Given the description of an element on the screen output the (x, y) to click on. 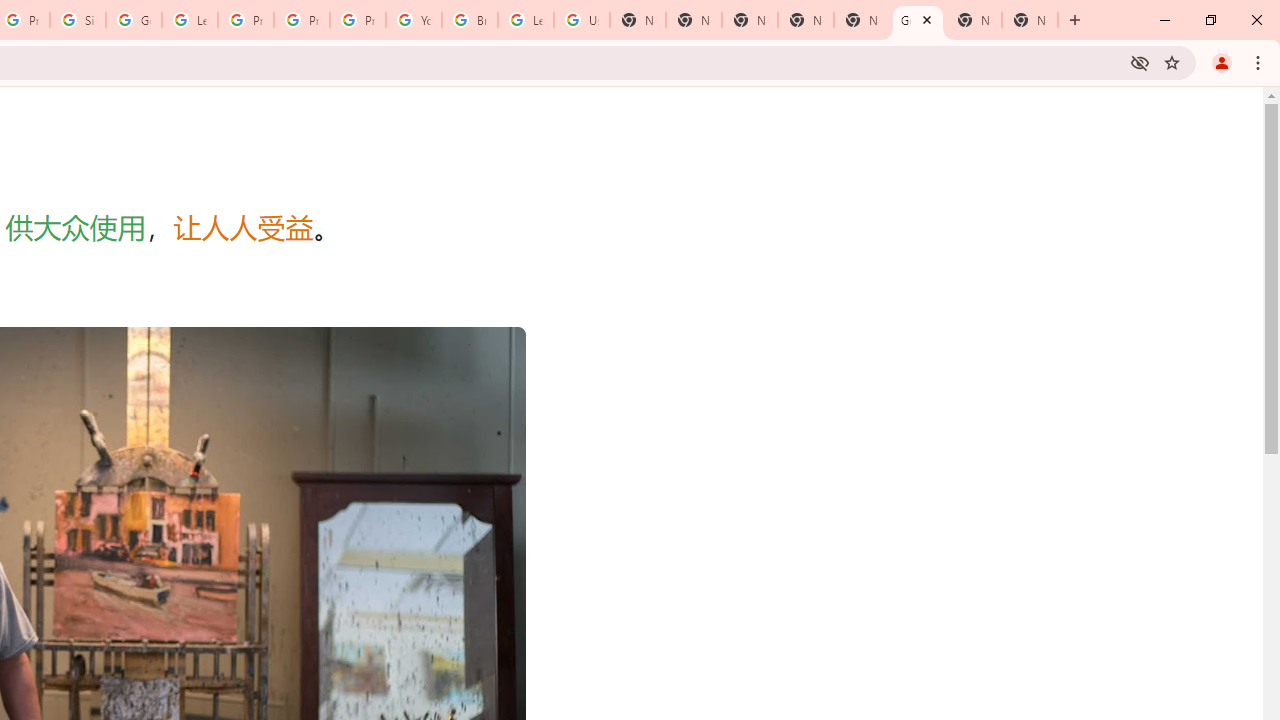
New Tab (749, 20)
YouTube (413, 20)
Privacy Help Center - Policies Help (301, 20)
New Tab (1030, 20)
